Given the description of an element on the screen output the (x, y) to click on. 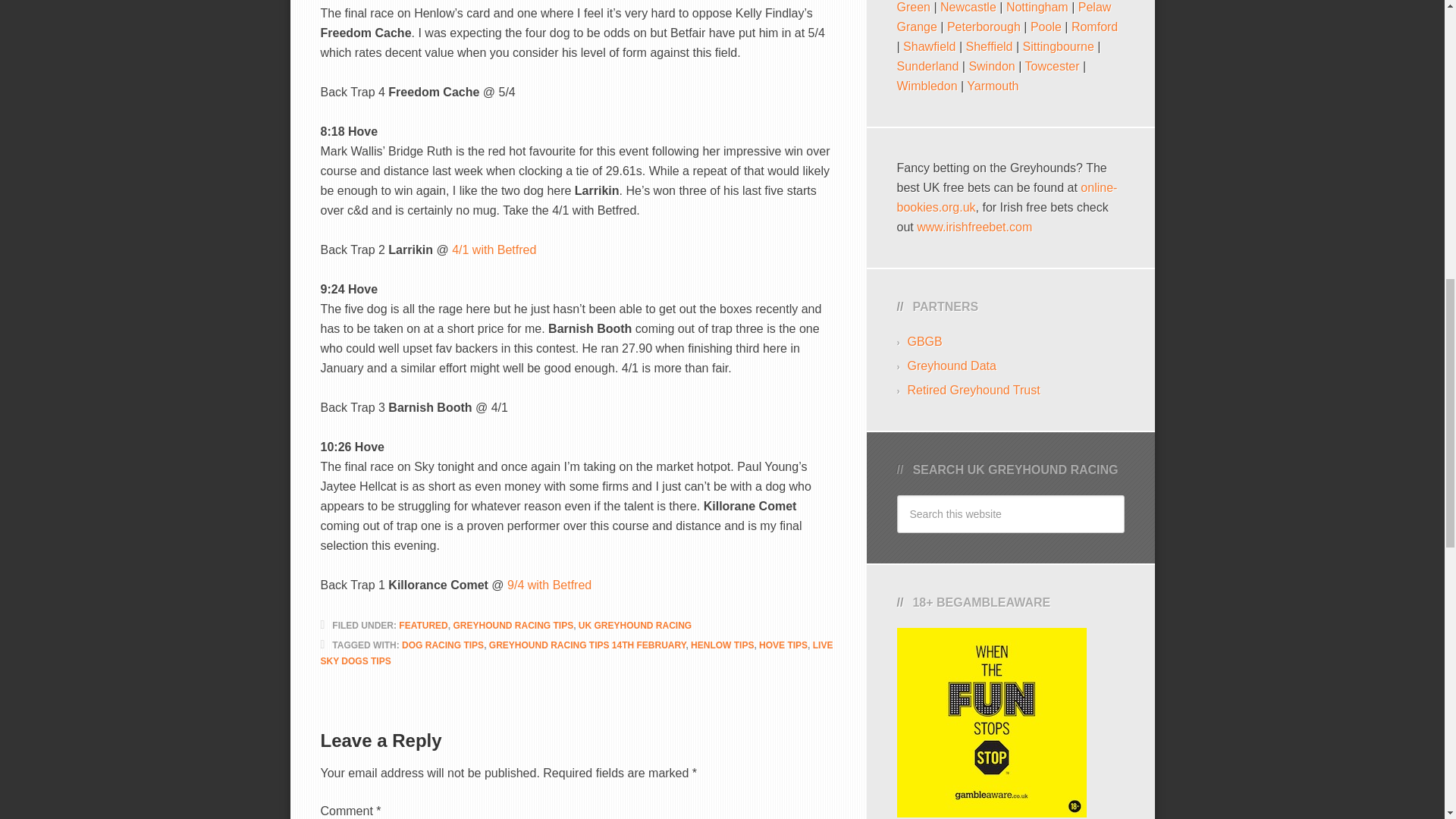
HOVE TIPS (783, 644)
Charity for homing retired greyhounds (973, 390)
UK GREYHOUND RACING (634, 624)
The UK governing body (924, 341)
DOG RACING TIPS (442, 644)
HENLOW TIPS (722, 644)
FEATURED (422, 624)
The Greyhound Breeding and Racing Database (951, 365)
GREYHOUND RACING TIPS (512, 624)
GREYHOUND RACING TIPS 14TH FEBRUARY (587, 644)
LIVE SKY DOGS TIPS (576, 652)
